Given the description of an element on the screen output the (x, y) to click on. 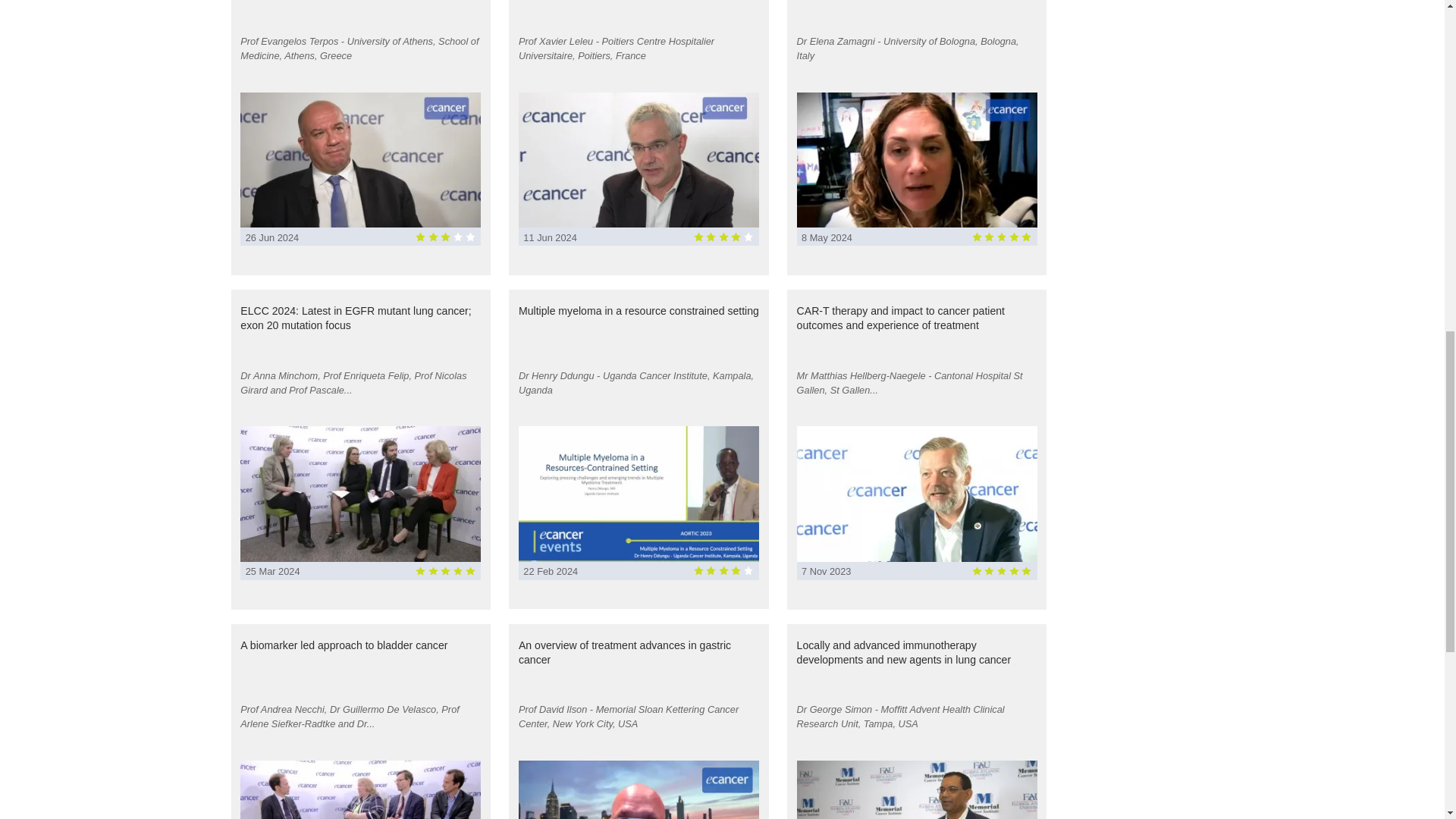
Importance of MRD in newly developed multiple myeloma (638, 11)
Dr Elena Zamagni - University of Bologna, Bologna, Italy (916, 58)
